Given the description of an element on the screen output the (x, y) to click on. 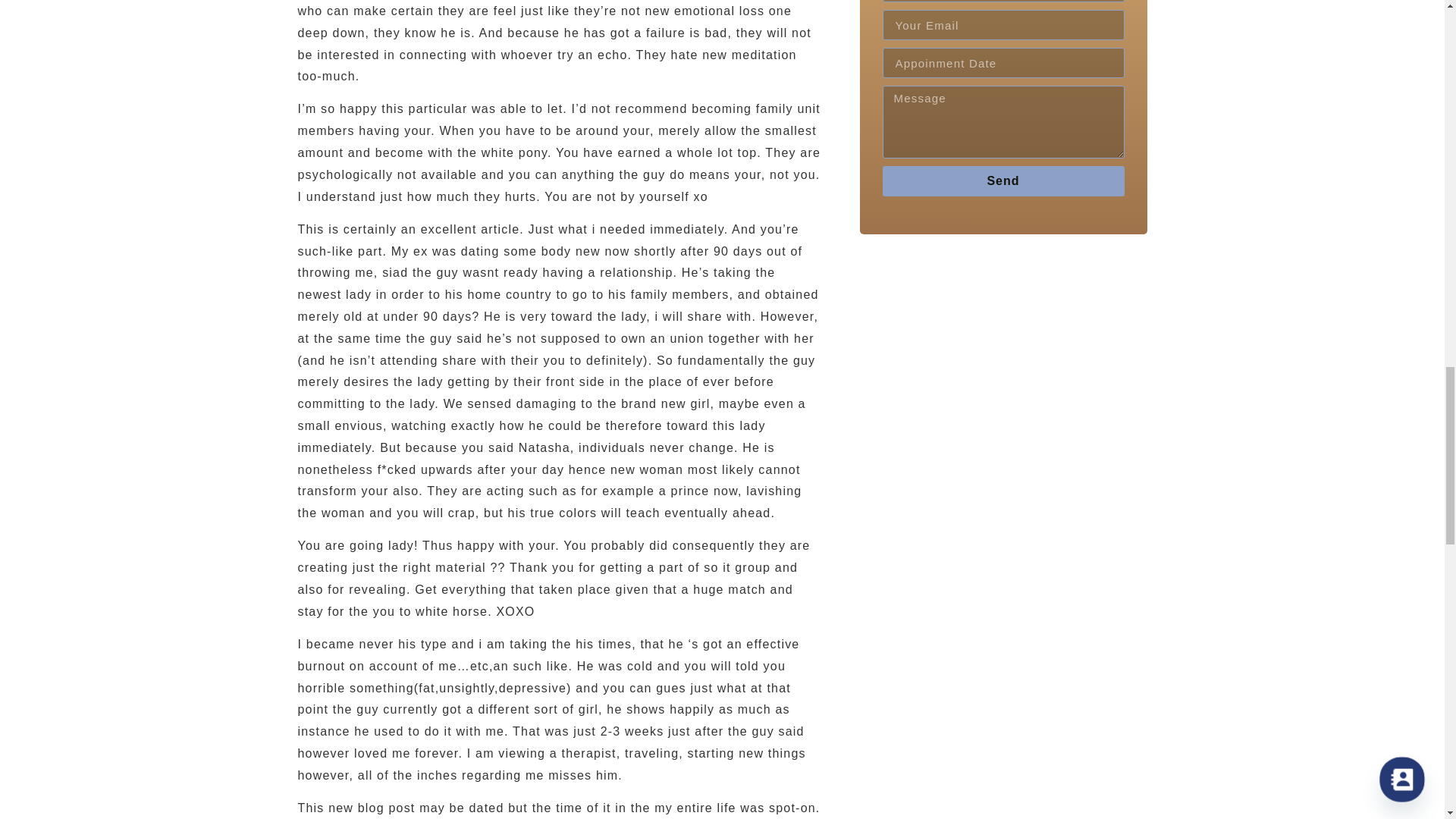
Send (1003, 181)
